Given the description of an element on the screen output the (x, y) to click on. 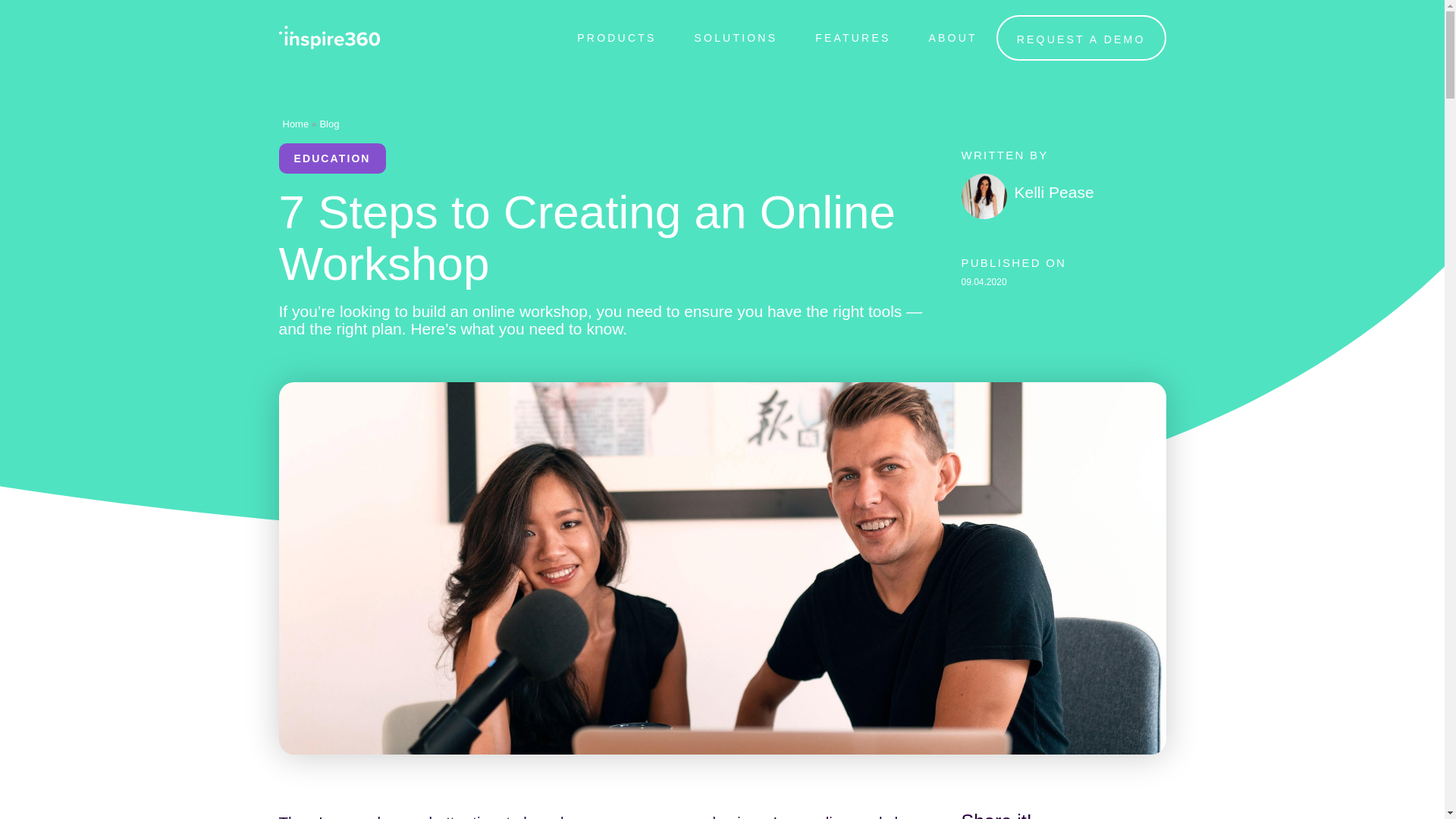
PRODUCTS (616, 37)
ABOUT (951, 37)
Home (295, 123)
SOLUTIONS (735, 37)
FEATURES (852, 37)
REQUEST A DEMO (1080, 37)
Blog (328, 123)
EDUCATION (332, 158)
